Given the description of an element on the screen output the (x, y) to click on. 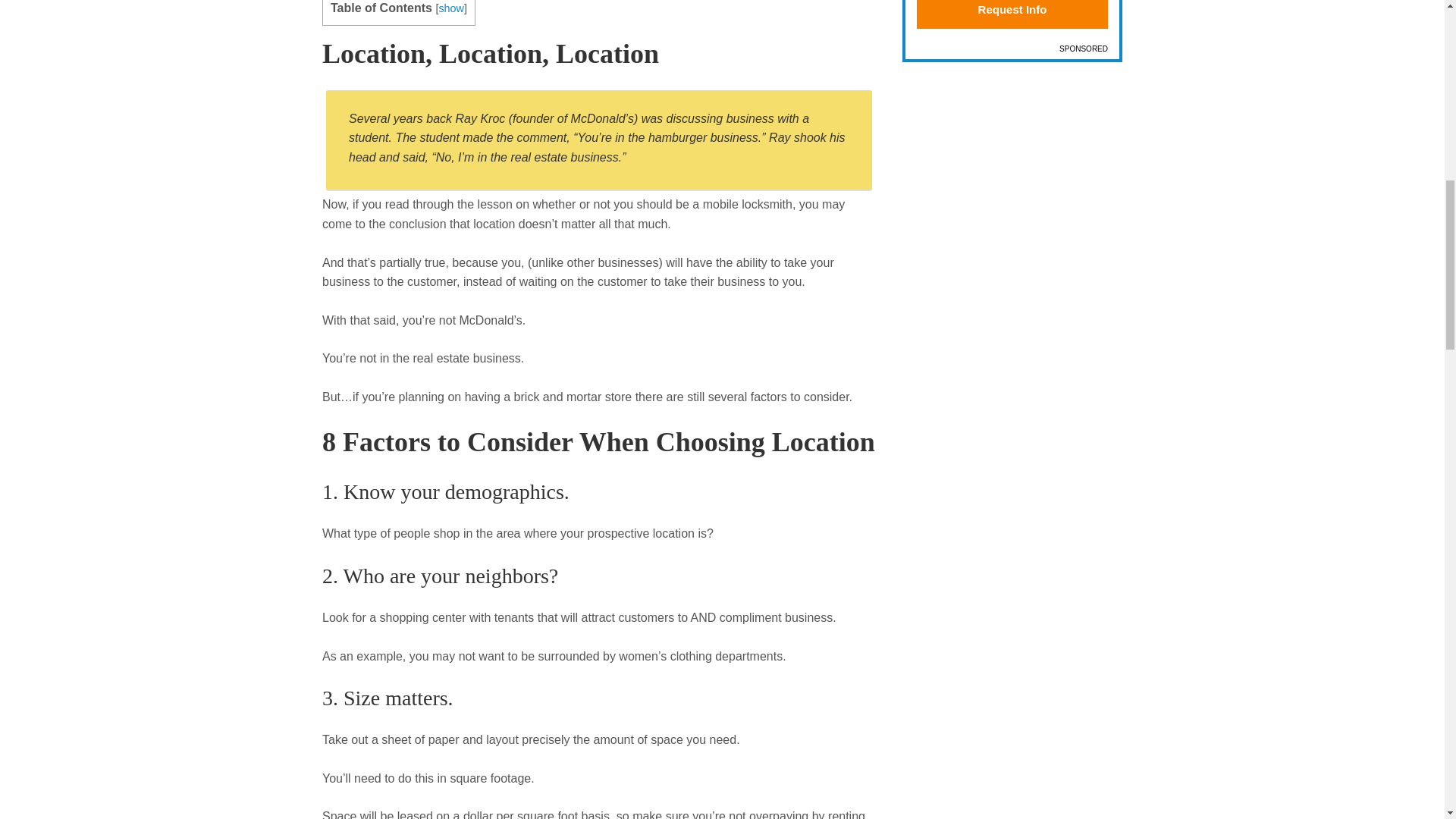
show (451, 8)
